Given the description of an element on the screen output the (x, y) to click on. 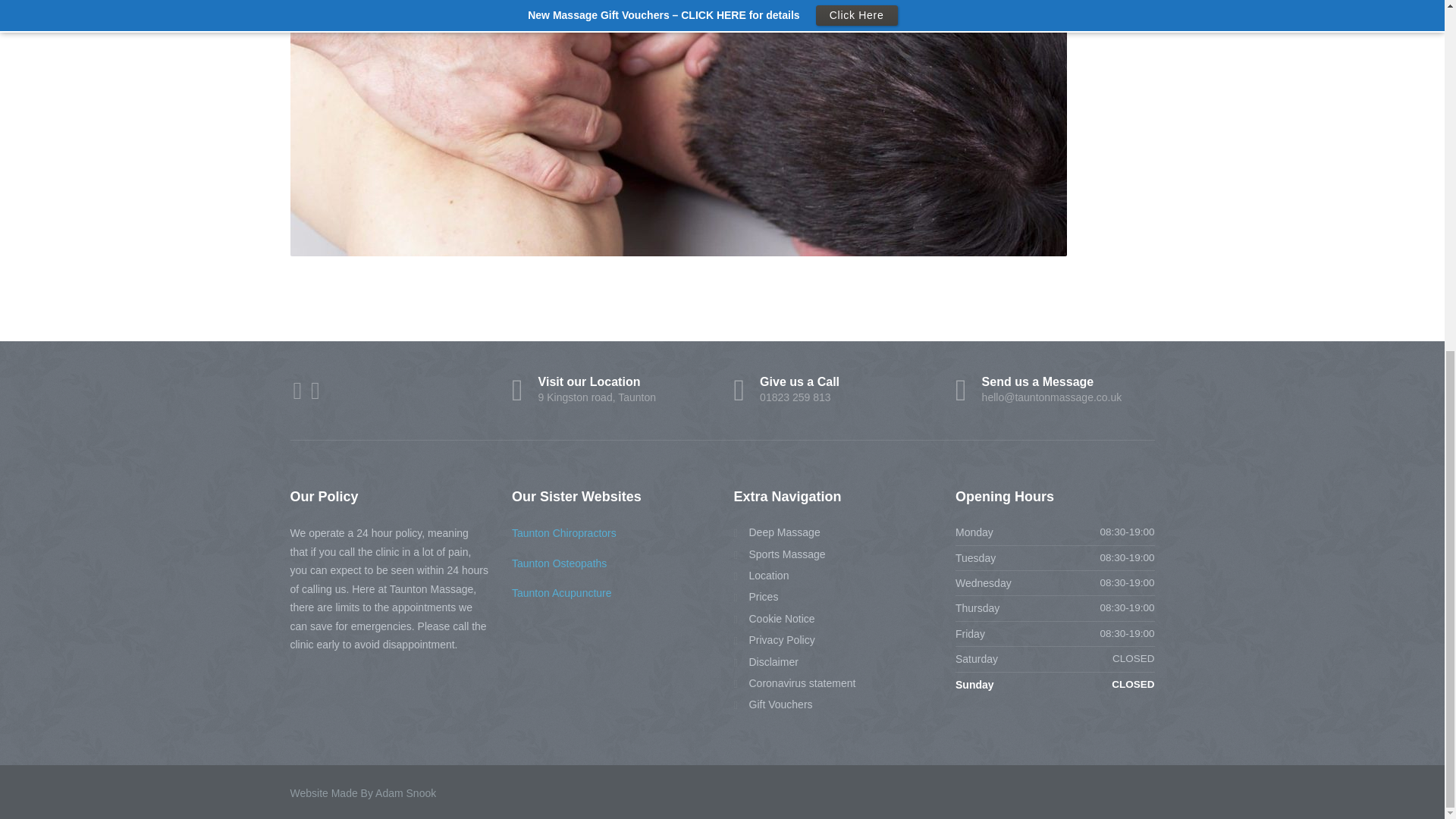
Deep Massage (777, 532)
Privacy Policy (774, 639)
Location (833, 390)
Cookie Notice (761, 575)
Taunton Osteopaths (774, 618)
Taunton Acupuncture (559, 563)
Disclaimer (561, 592)
Gift Vouchers (765, 661)
Coronavirus statement (772, 704)
